Given the description of an element on the screen output the (x, y) to click on. 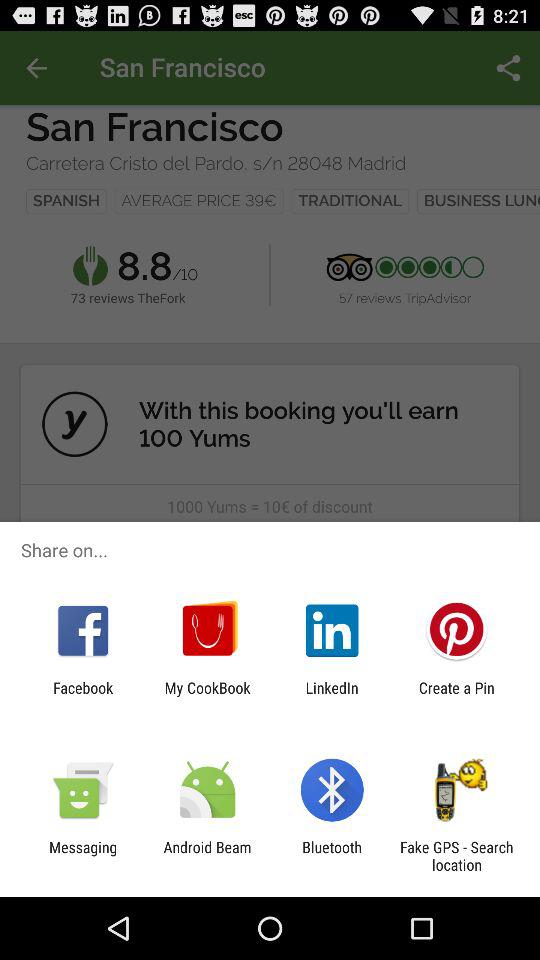
swipe until the fake gps search app (456, 856)
